Given the description of an element on the screen output the (x, y) to click on. 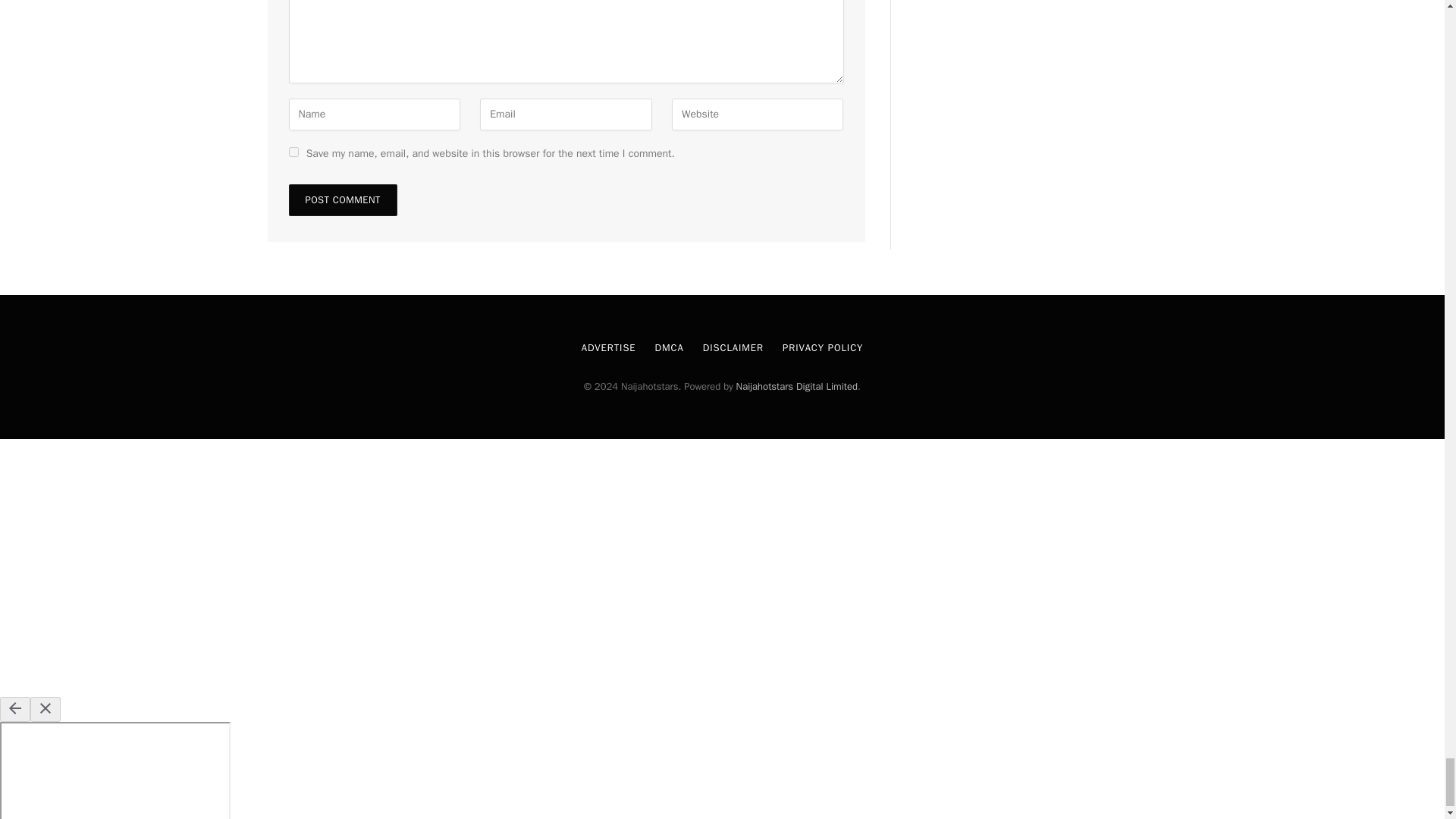
Post Comment (342, 200)
yes (293, 152)
